Given the description of an element on the screen output the (x, y) to click on. 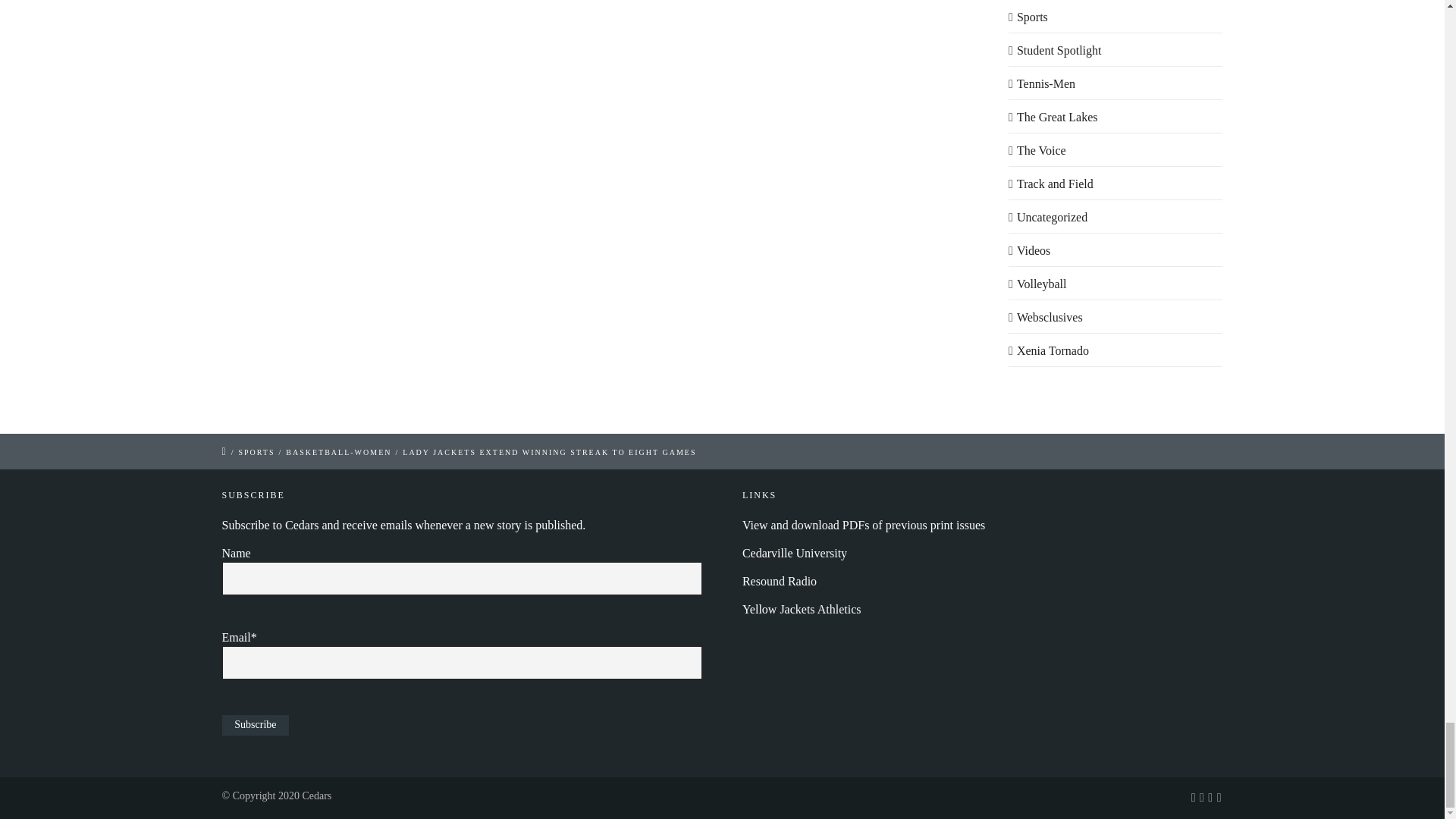
Subscribe (254, 724)
Previous issues (863, 524)
Yellow Jackets Athletics (801, 608)
Cedarville University (794, 553)
Resound Radio (779, 581)
